Given the description of an element on the screen output the (x, y) to click on. 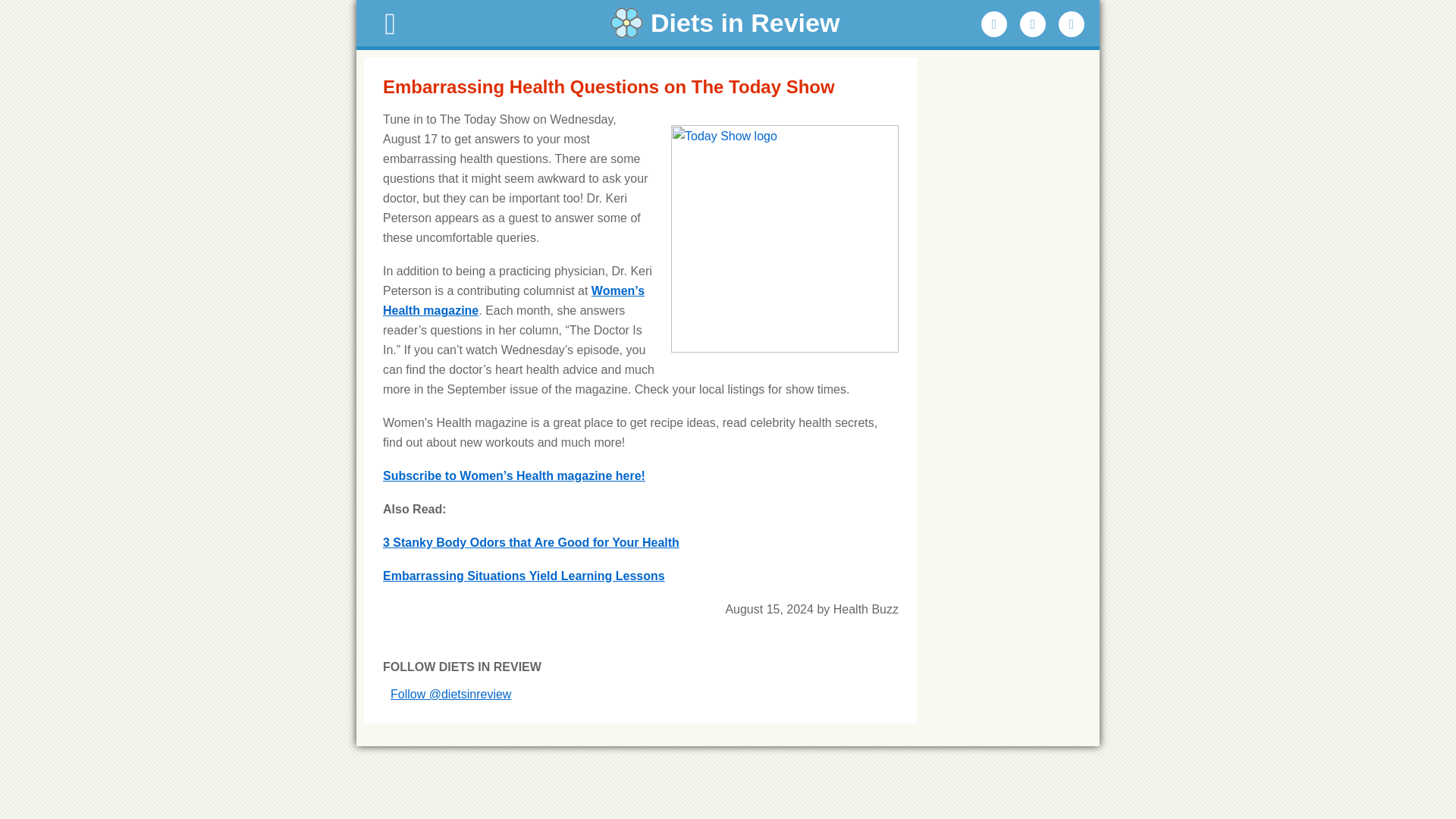
Add to Twitter (1032, 23)
Embarrassing Situations Yield Learning Lessons (523, 575)
today-show-logo (784, 238)
Diets in Review (727, 22)
3 Stanky Body Odors that Are Good for Your Health (530, 542)
3 Stanky Body Odors that Are Good for Your Health (530, 542)
Diets in Review Blog (727, 22)
Share with Facebook (994, 23)
Women's Health Magazine (513, 300)
